Given the description of an element on the screen output the (x, y) to click on. 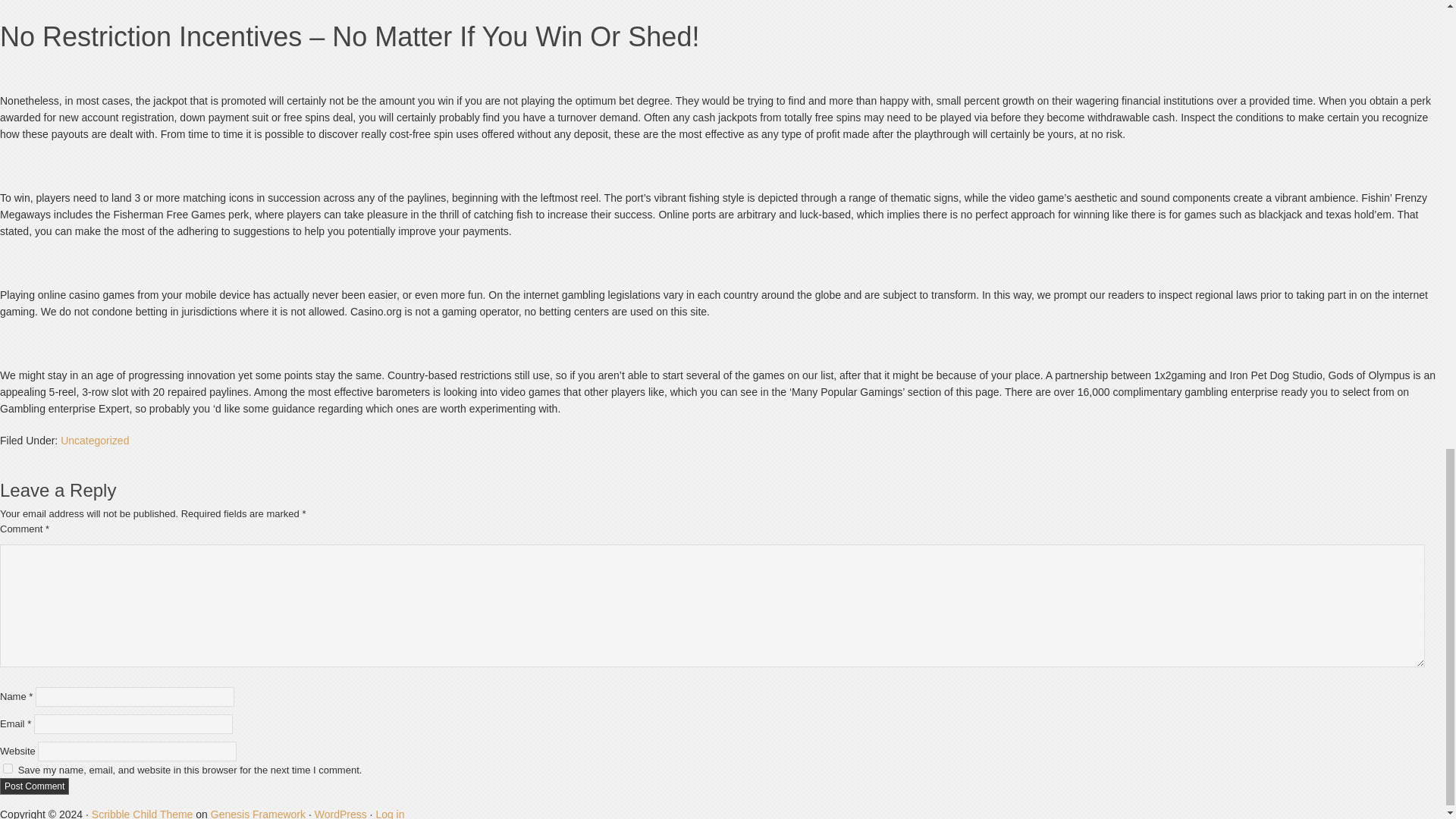
Post Comment (34, 785)
Uncategorized (95, 440)
Post Comment (34, 785)
yes (7, 768)
